Given the description of an element on the screen output the (x, y) to click on. 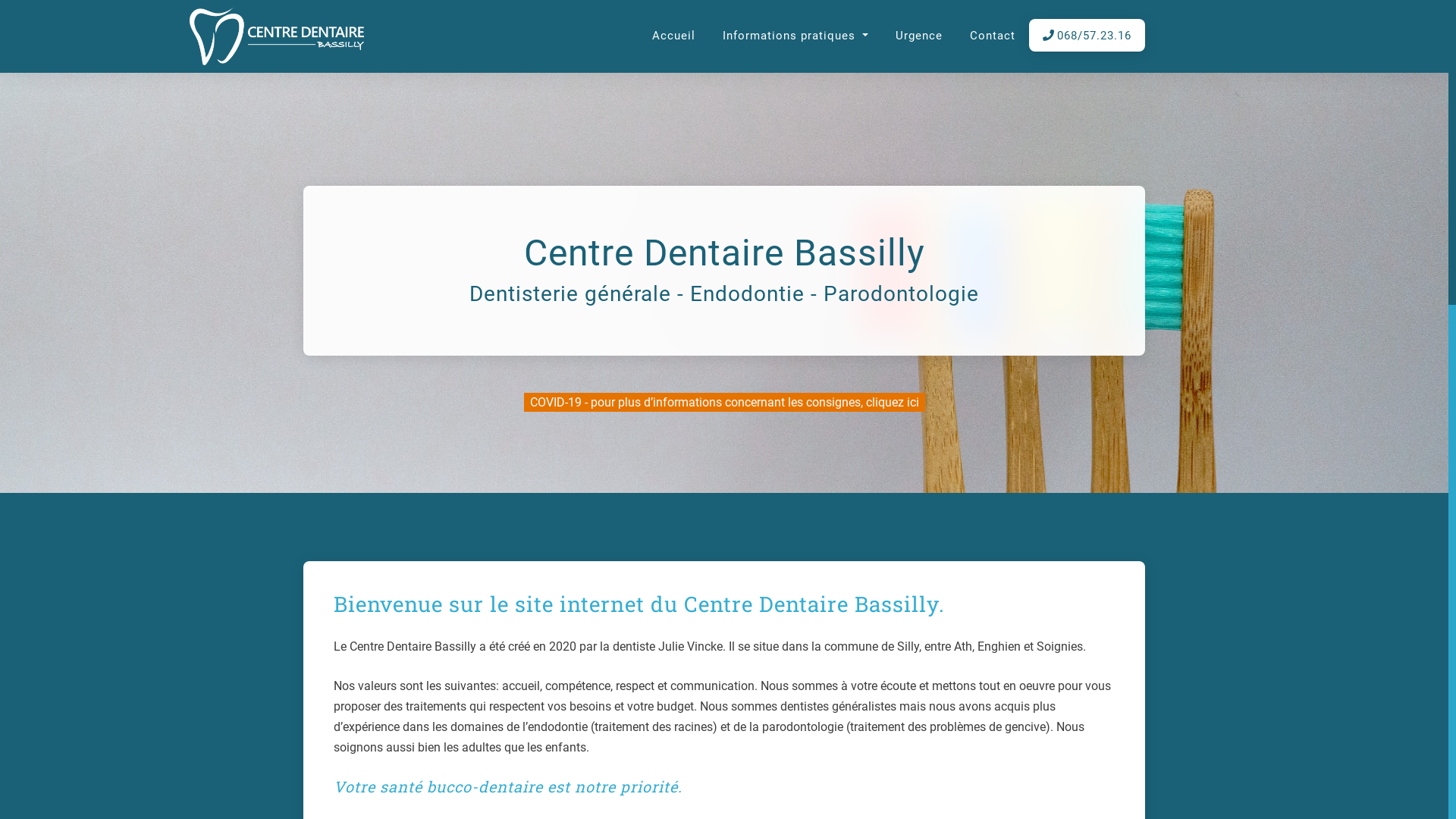
Accueil Element type: text (673, 36)
Urgence Element type: text (918, 36)
Contact Element type: text (992, 36)
Informations pratiques Element type: text (795, 36)
068/57.23.16 Element type: text (1086, 36)
